Given the description of an element on the screen output the (x, y) to click on. 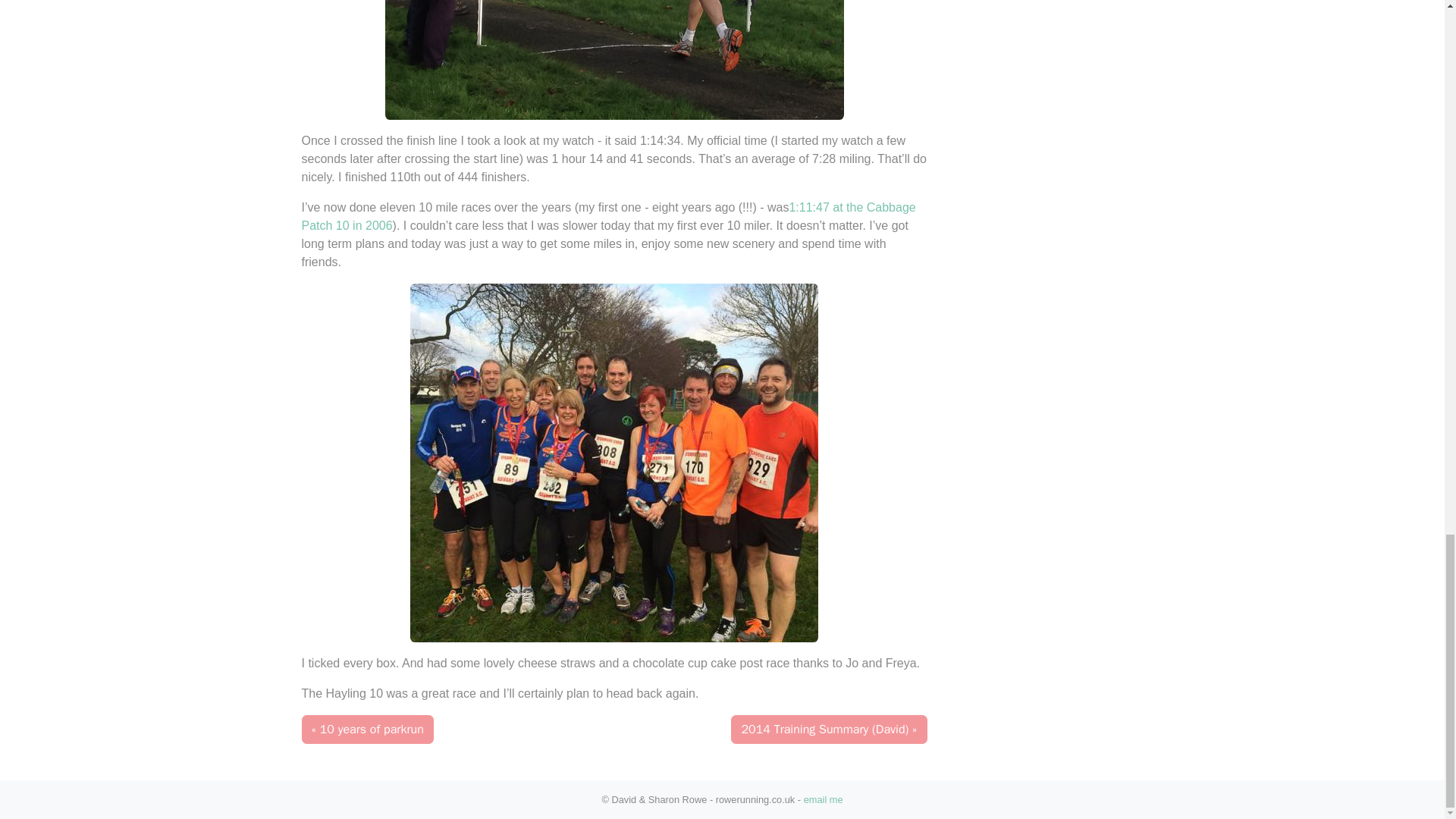
email me (823, 799)
1:11:47 at the Cabbage Patch 10 in 2006 (608, 215)
